Given the description of an element on the screen output the (x, y) to click on. 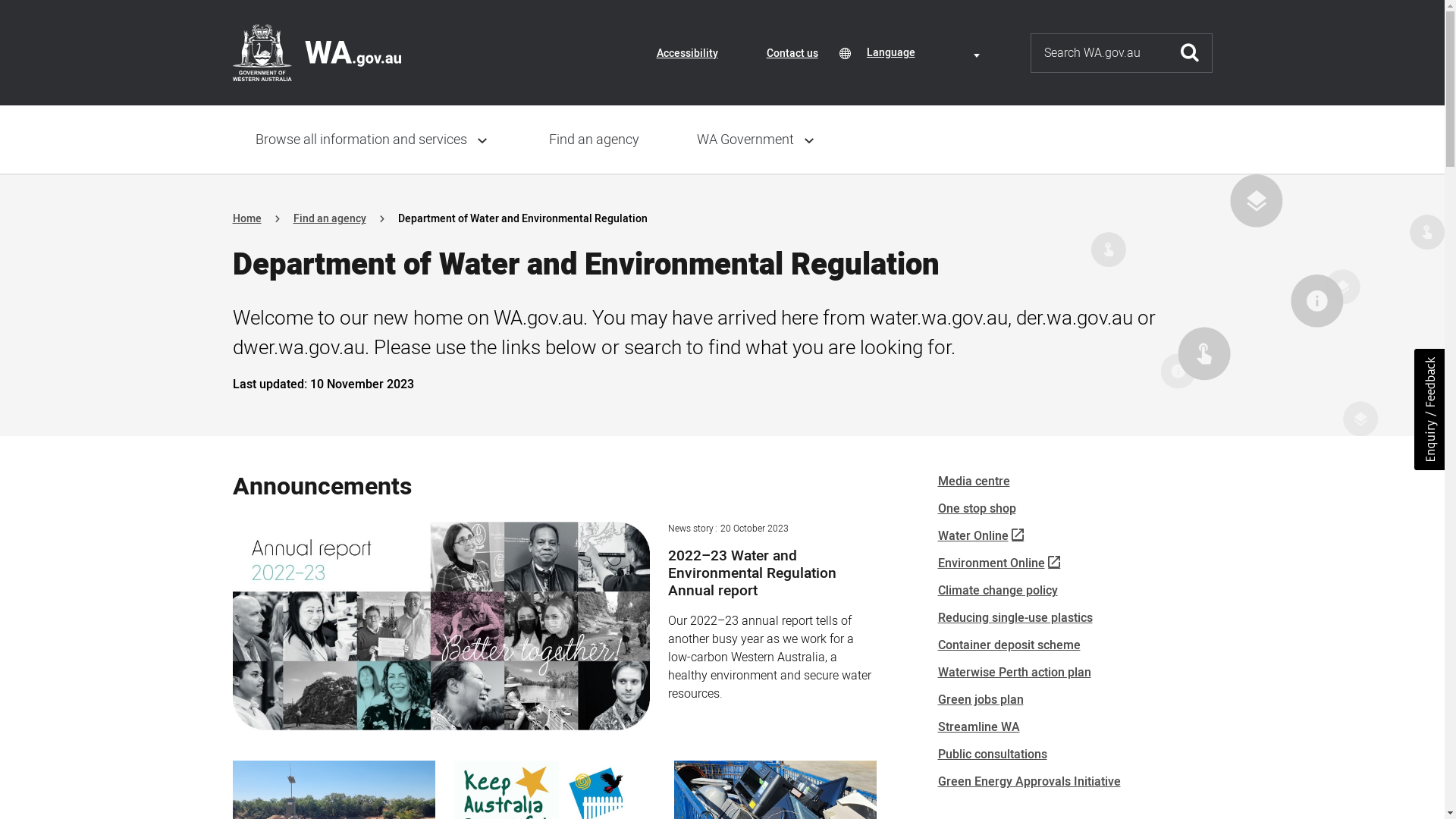
WA Government Element type: text (756, 139)
Reducing single-use plastics Element type: text (1014, 617)
Accessibility Element type: text (687, 53)
Contact us Element type: text (791, 53)
Green Energy Approvals Initiative Element type: text (1028, 781)
Home Element type: text (246, 218)
Find an agency Element type: text (594, 139)
Waterwise Perth action plan Element type: text (1013, 672)
Streamline WA Element type: text (978, 727)
One stop shop Element type: text (976, 508)
Submit Element type: text (1189, 52)
Water Online Element type: text (980, 536)
Usabilla Feedback Button Element type: hover (1429, 409)
Browse all information and services Element type: text (372, 139)
Find an agency Element type: text (328, 218)
Media centre Element type: text (973, 481)
Public consultations Element type: text (991, 754)
Go to the WA.gov.au homepage Element type: hover (316, 52)
Container deposit scheme Element type: text (1008, 645)
Skip to main content Element type: text (22, 16)
Climate change policy Element type: text (997, 590)
Environment Online Element type: text (998, 563)
Green jobs plan Element type: text (979, 699)
